Given the description of an element on the screen output the (x, y) to click on. 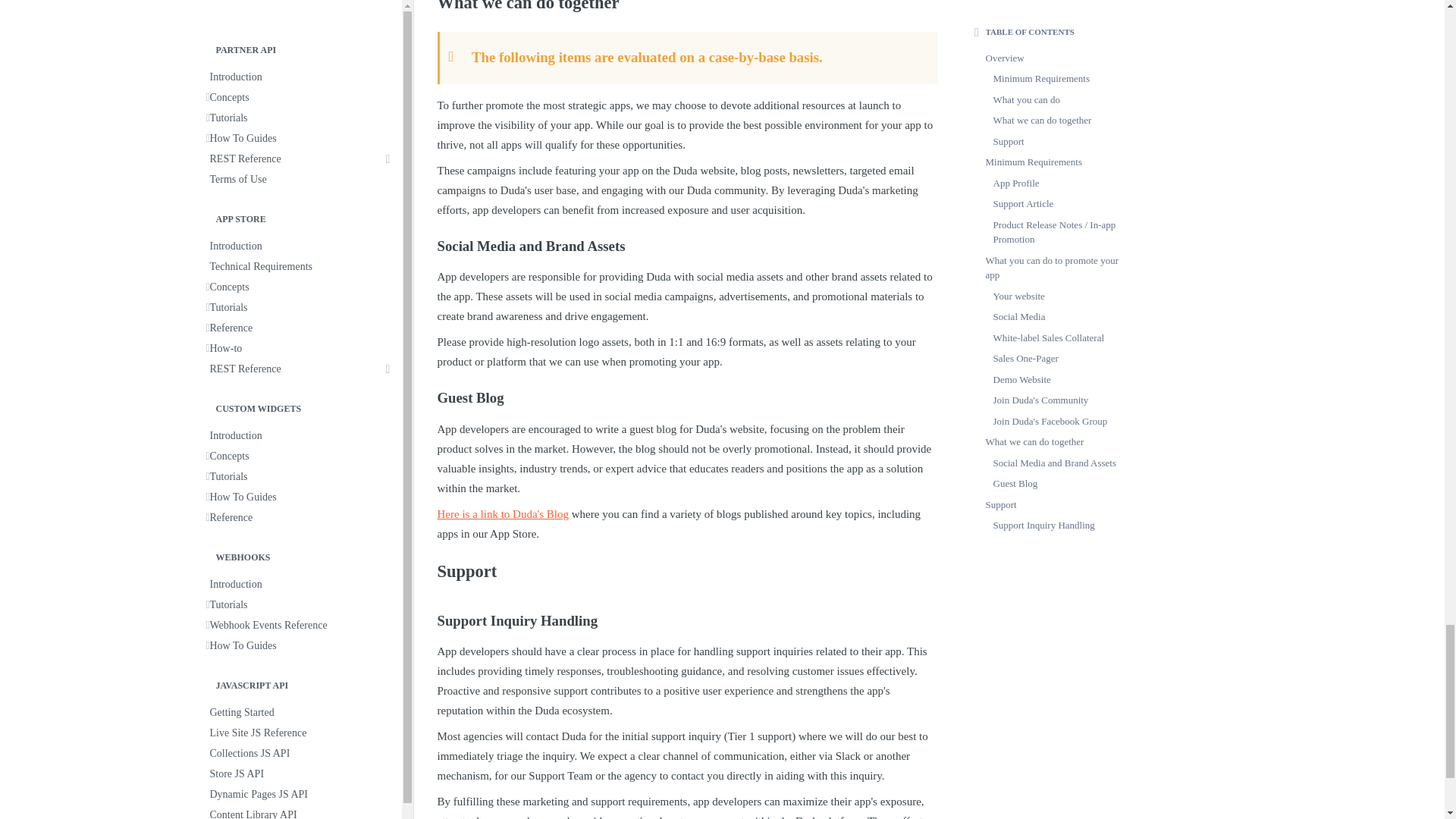
Support Inquiry Handling (686, 614)
Support (686, 565)
What we can do together (686, 6)
Guest Blog (686, 391)
Social Media and Brand Assets (686, 240)
